Given the description of an element on the screen output the (x, y) to click on. 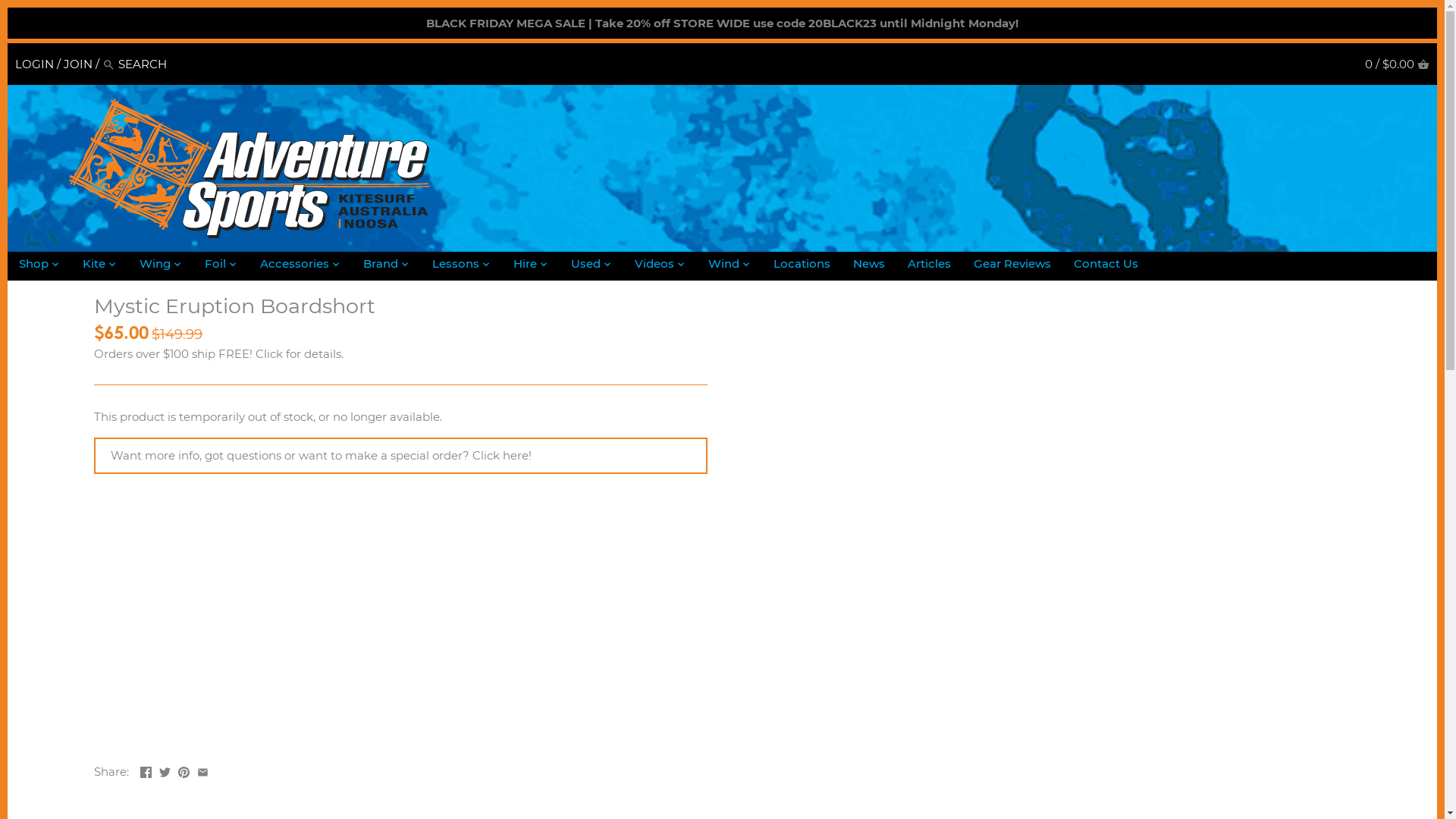
Kite Element type: text (93, 265)
Gear Reviews Element type: text (1012, 265)
Brand Element type: text (380, 265)
LOGIN Element type: text (34, 63)
Used Element type: text (585, 265)
Shop Element type: text (33, 265)
Videos Element type: text (654, 265)
Articles Element type: text (929, 265)
Orders over $100 ship FREE! Click for details. Element type: text (218, 353)
Email Element type: text (202, 769)
Contact Us Element type: text (1105, 265)
0 / $0.00 CART Element type: text (1397, 63)
Lessons Element type: text (455, 265)
Twitter Element type: text (164, 769)
Hire Element type: text (525, 265)
Wind Element type: text (723, 265)
Pinterest Element type: text (183, 769)
Locations Element type: text (801, 265)
Facebook Element type: text (145, 769)
News Element type: text (868, 265)
Foil Element type: text (215, 265)
JOIN Element type: text (77, 63)
Search Element type: text (108, 64)
Accessories Element type: text (294, 265)
Wing Element type: text (155, 265)
